Given the description of an element on the screen output the (x, y) to click on. 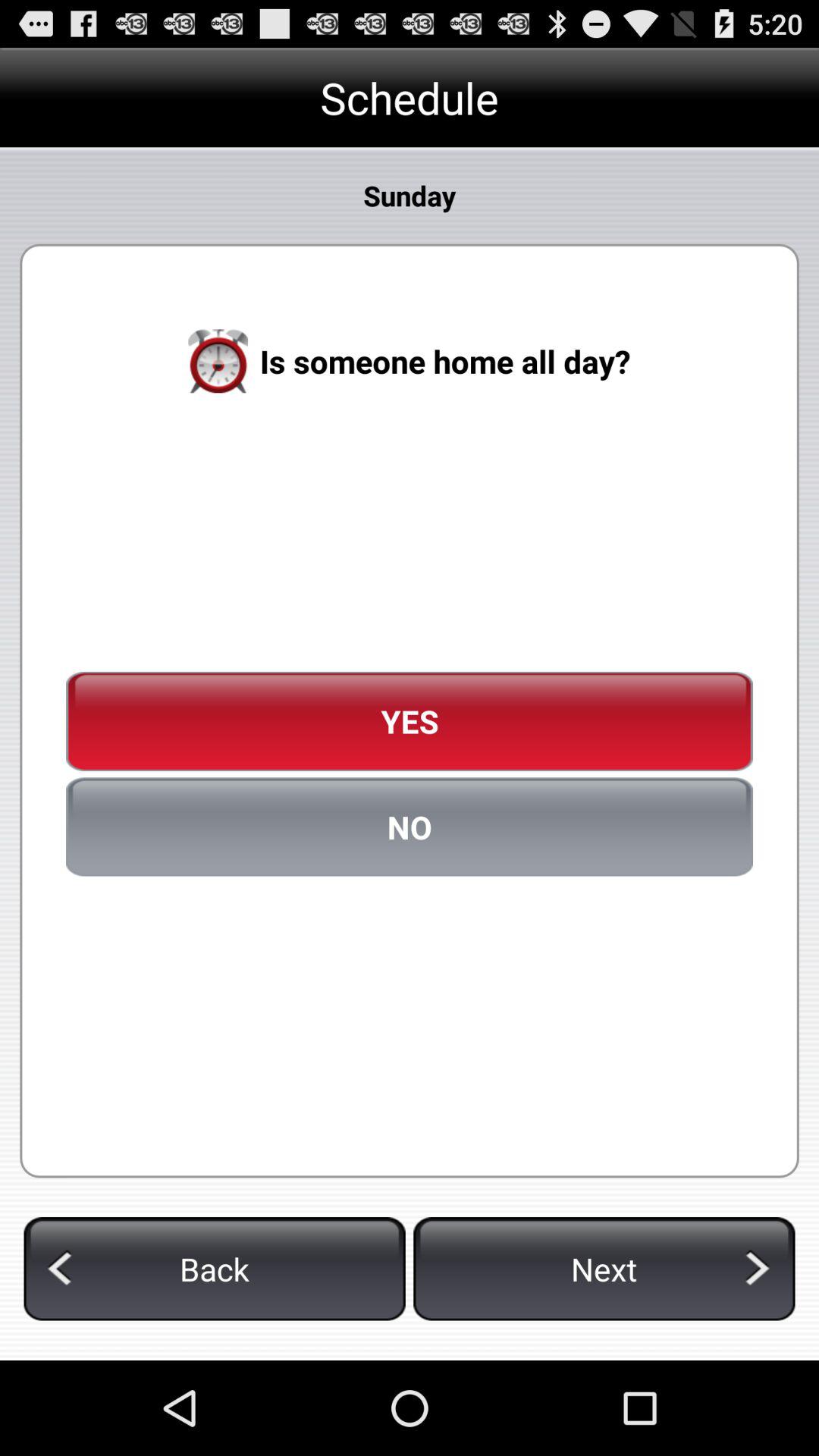
turn off the no item (409, 827)
